Given the description of an element on the screen output the (x, y) to click on. 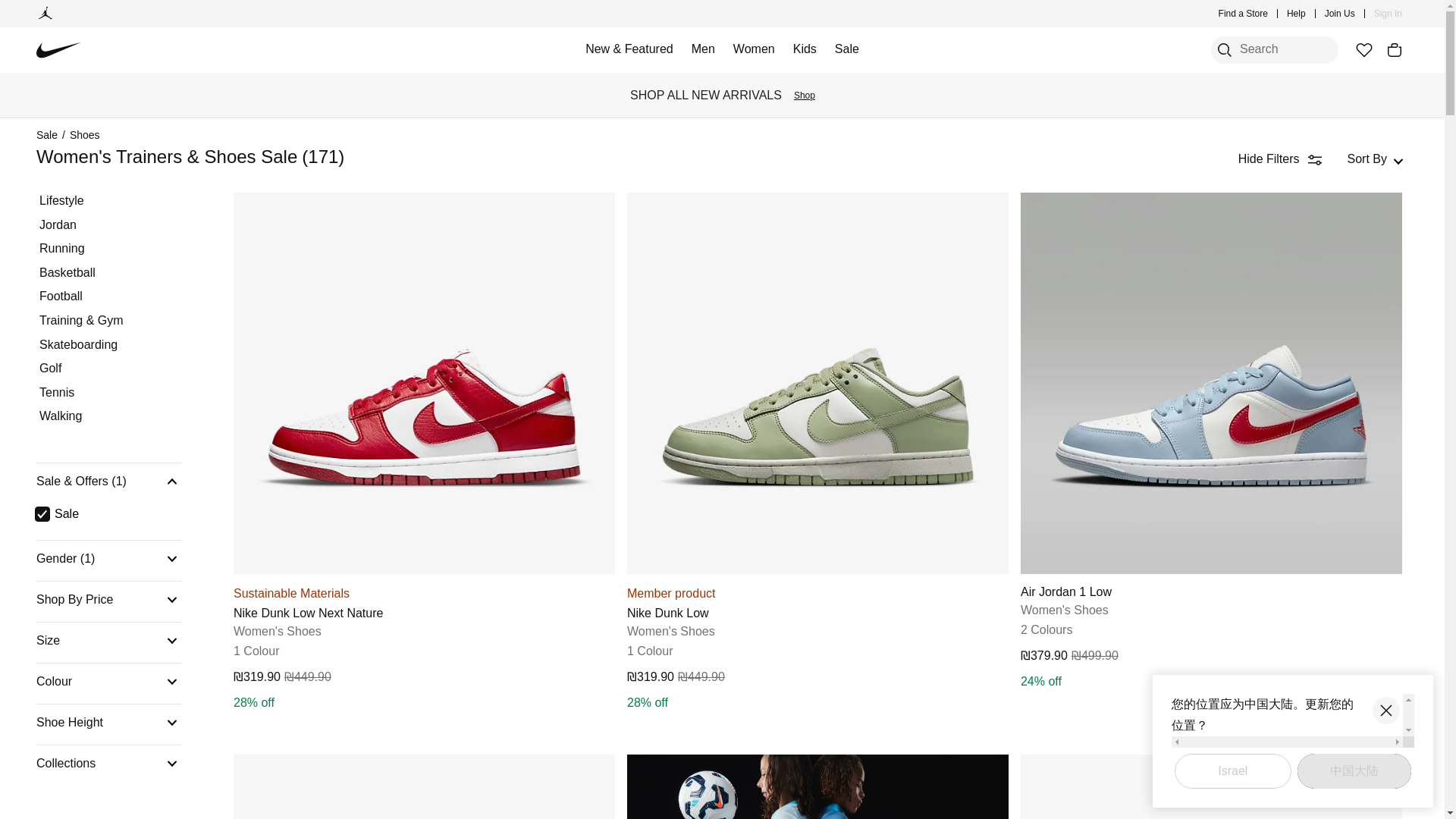
Sign In (1388, 13)
Help (1296, 13)
Join Us (1339, 13)
Find a Store (1243, 13)
Bag Items: 0 (1393, 49)
Favourites (1364, 49)
